Given the description of an element on the screen output the (x, y) to click on. 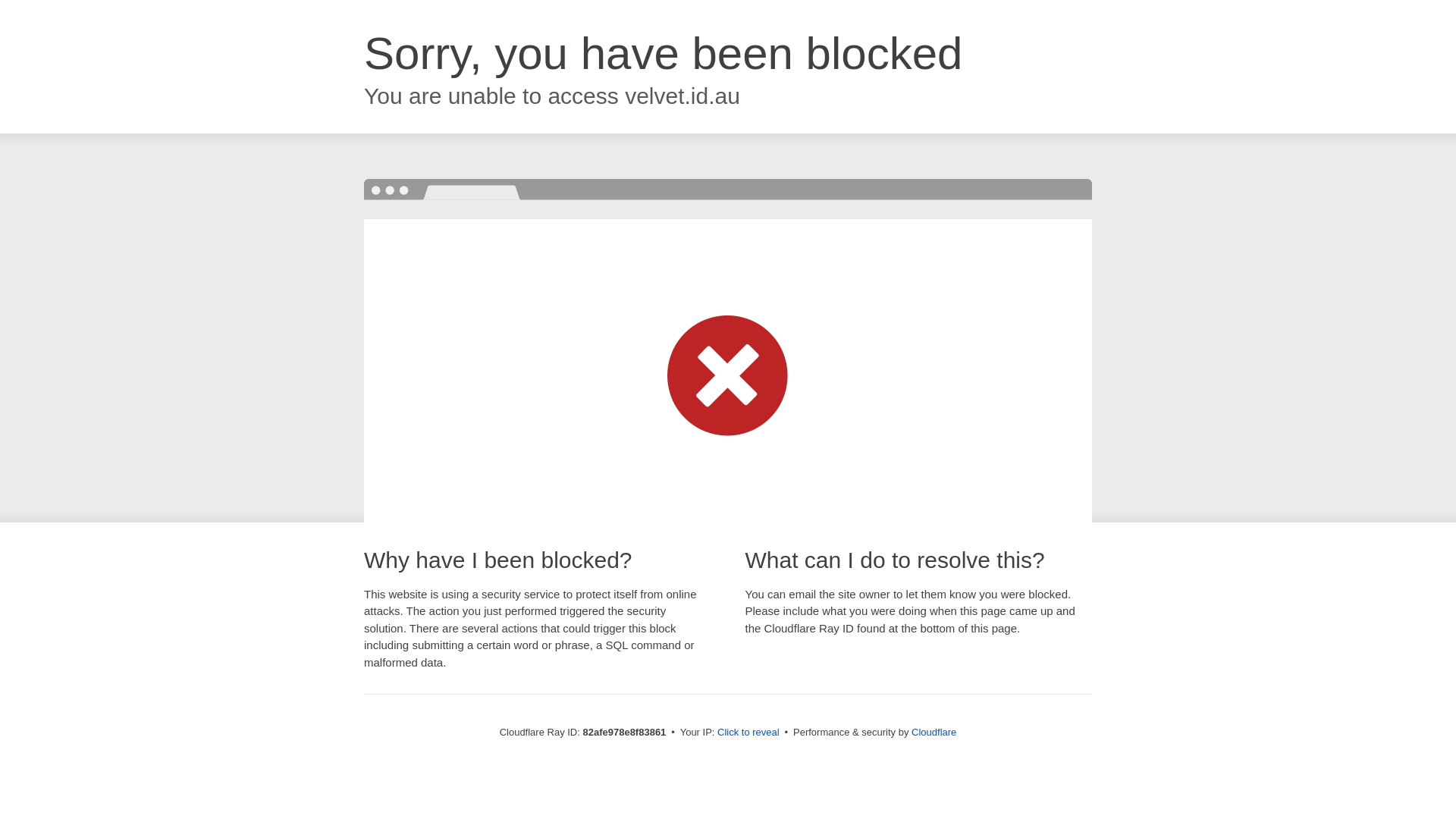
Click to reveal Element type: text (748, 732)
Cloudflare Element type: text (933, 731)
